Given the description of an element on the screen output the (x, y) to click on. 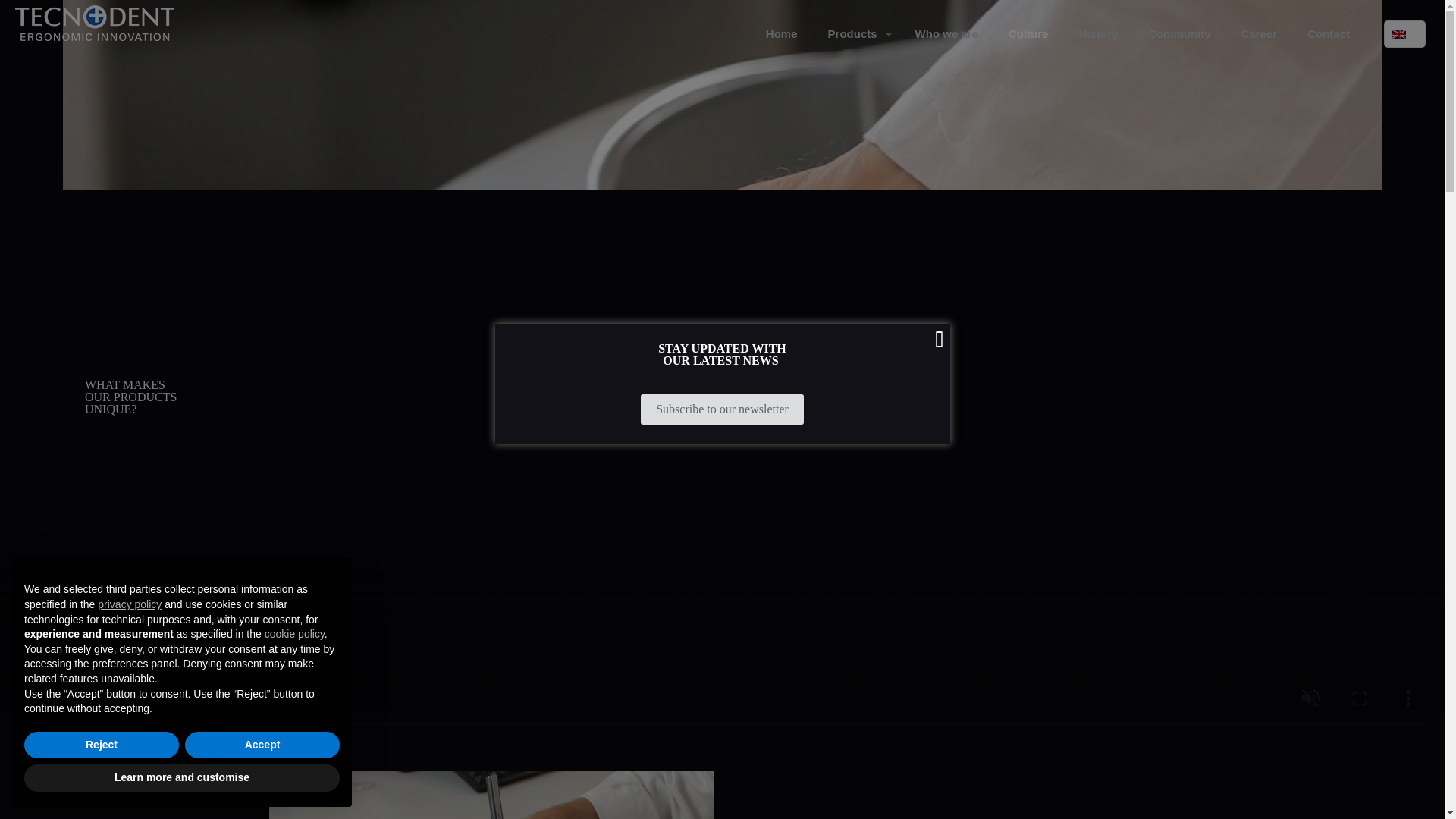
Tecnodent (100, 22)
Culture (1028, 33)
History (1097, 33)
Community (1178, 33)
Career (1258, 33)
Contact (1328, 33)
Products (855, 33)
Home (781, 33)
Who we are (945, 33)
